Given the description of an element on the screen output the (x, y) to click on. 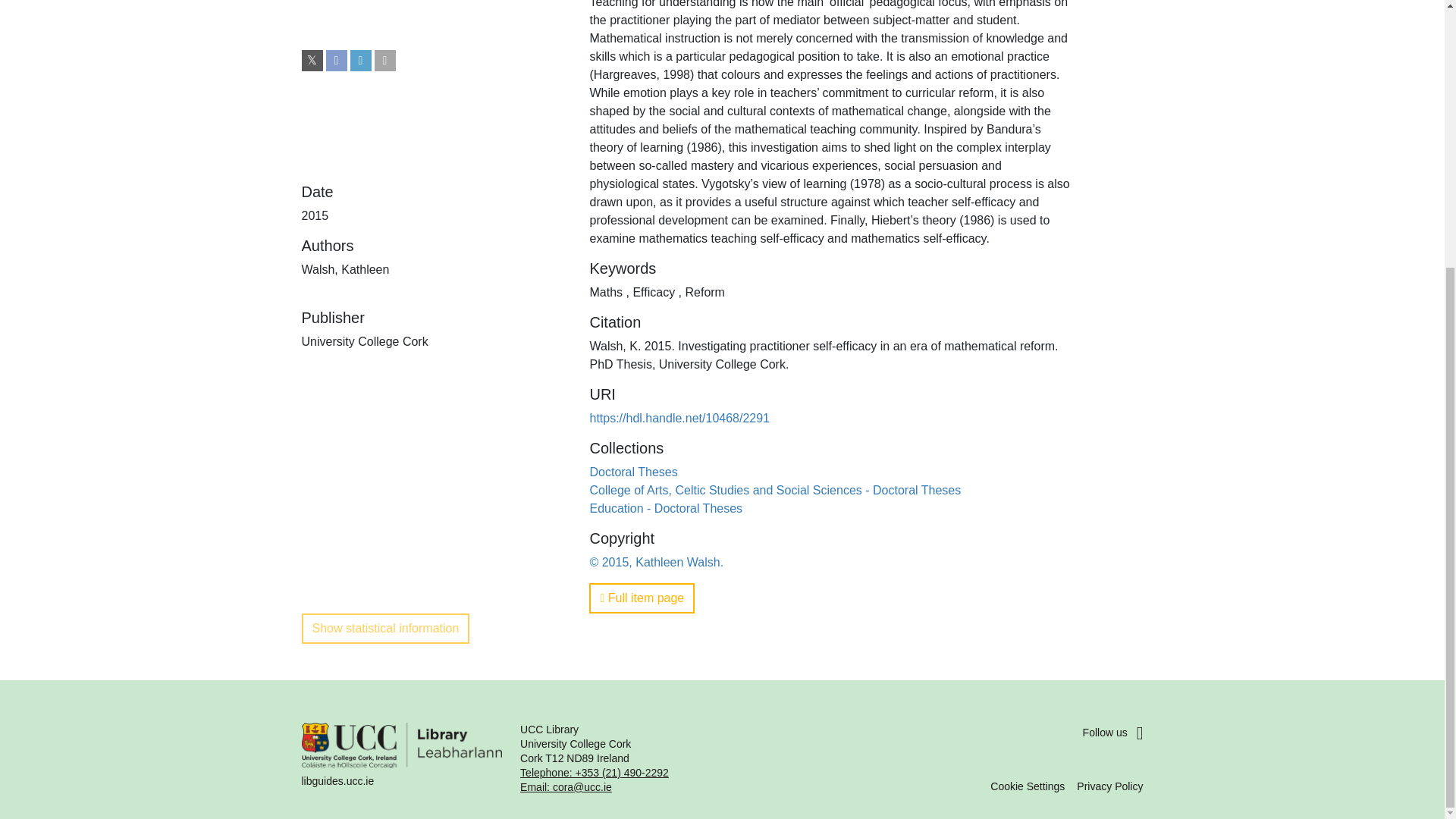
libguides.ucc.ie (401, 758)
Full item page (641, 598)
Education - Doctoral Theses (665, 508)
Privacy Policy (1109, 786)
Doctoral Theses (633, 472)
Show statistical information (385, 628)
Cookie Settings (1027, 786)
